Given the description of an element on the screen output the (x, y) to click on. 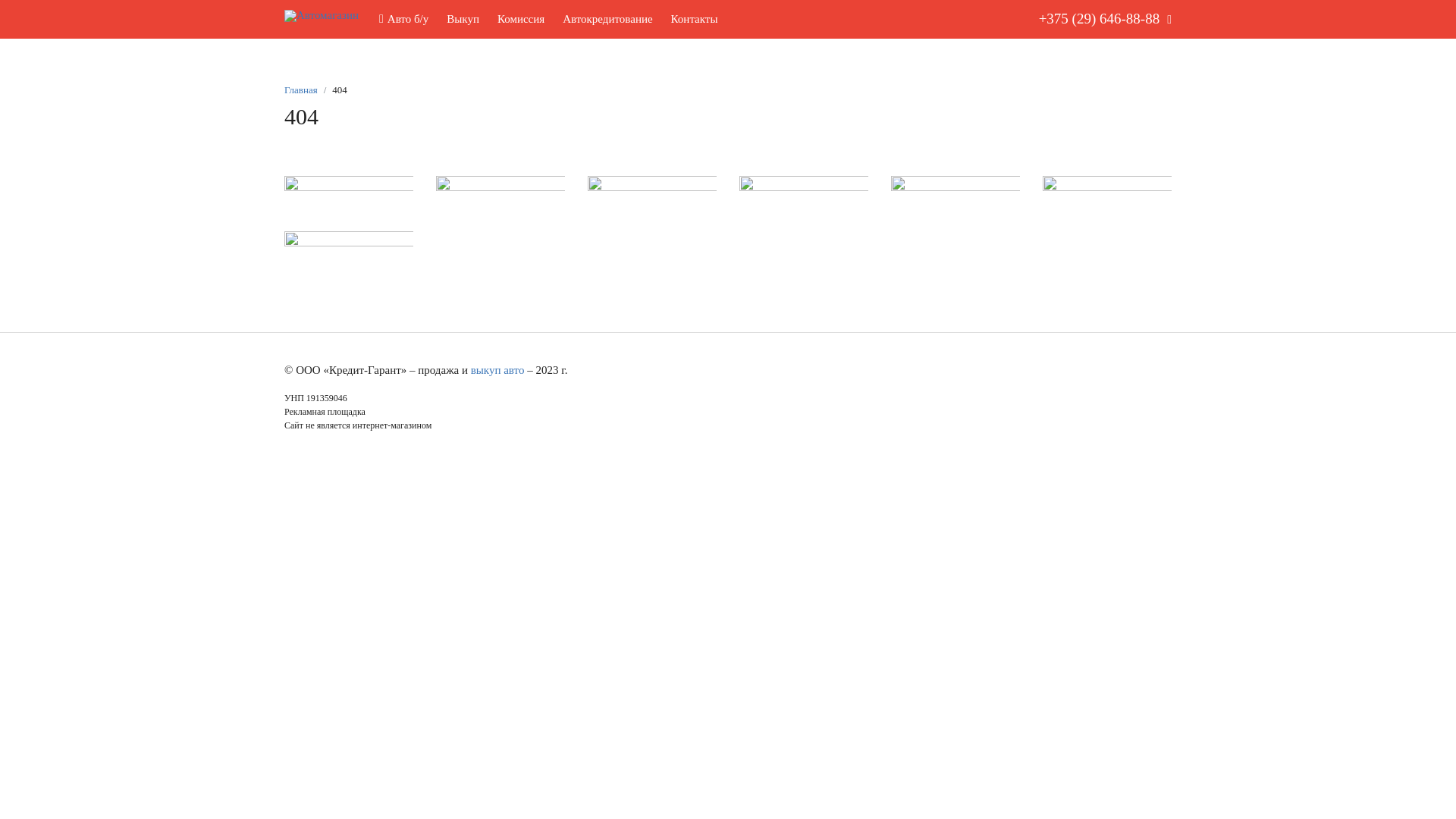
+375 (29) 646-88-88 Element type: text (1098, 19)
